Given the description of an element on the screen output the (x, y) to click on. 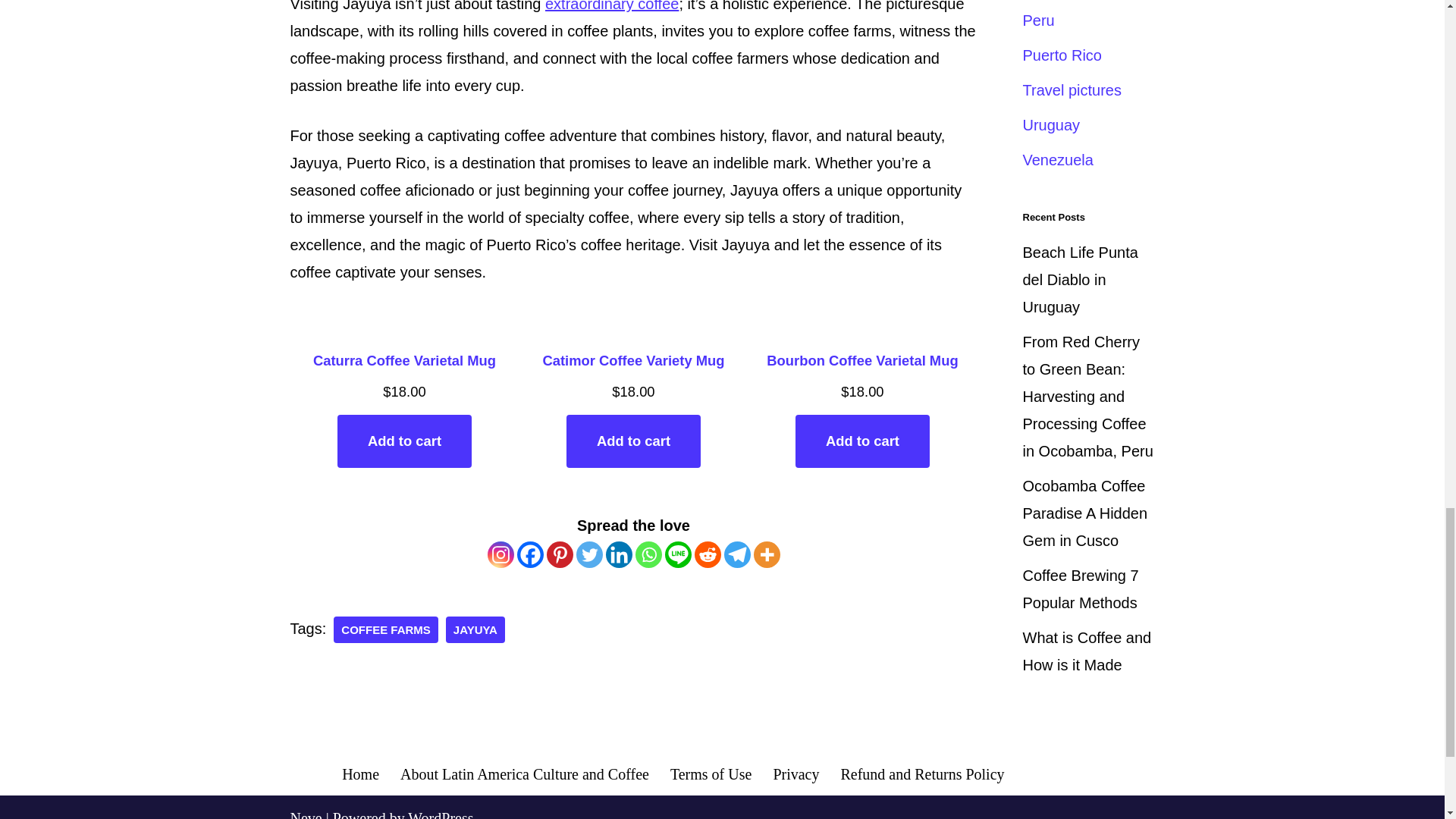
Telegram (736, 554)
Reddit (707, 554)
Linkedin (618, 554)
Instagram (499, 554)
Twitter (589, 554)
Line (676, 554)
Whatsapp (648, 554)
Facebook (529, 554)
More (767, 554)
coffee farms (385, 629)
